Given the description of an element on the screen output the (x, y) to click on. 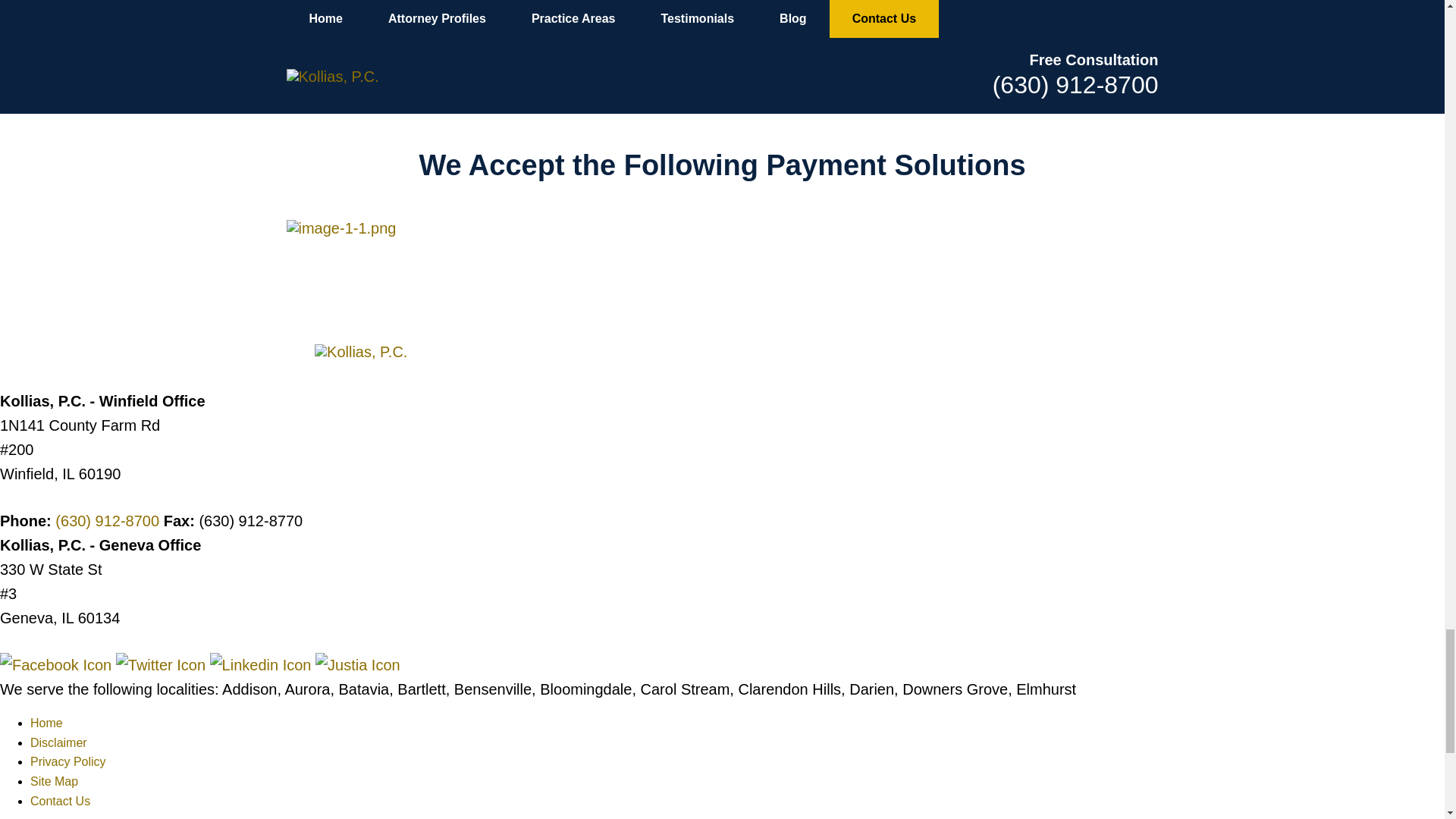
Justia (357, 664)
Linkedin (262, 664)
Facebook (58, 664)
Twitter (162, 664)
